Given the description of an element on the screen output the (x, y) to click on. 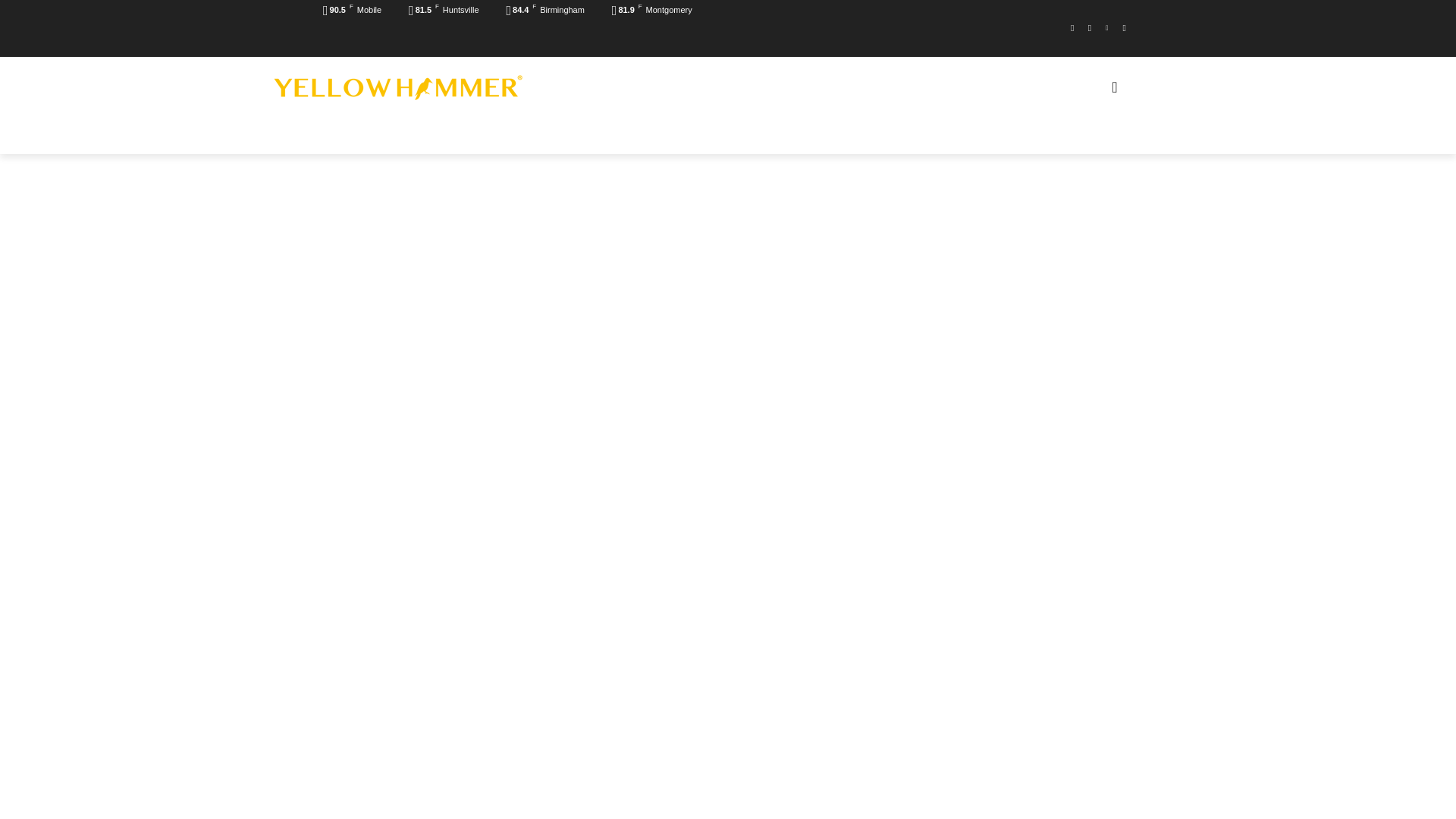
Twitter (1123, 27)
Instagram (1090, 27)
Facebook (1072, 27)
Linkedin (1106, 27)
